Given the description of an element on the screen output the (x, y) to click on. 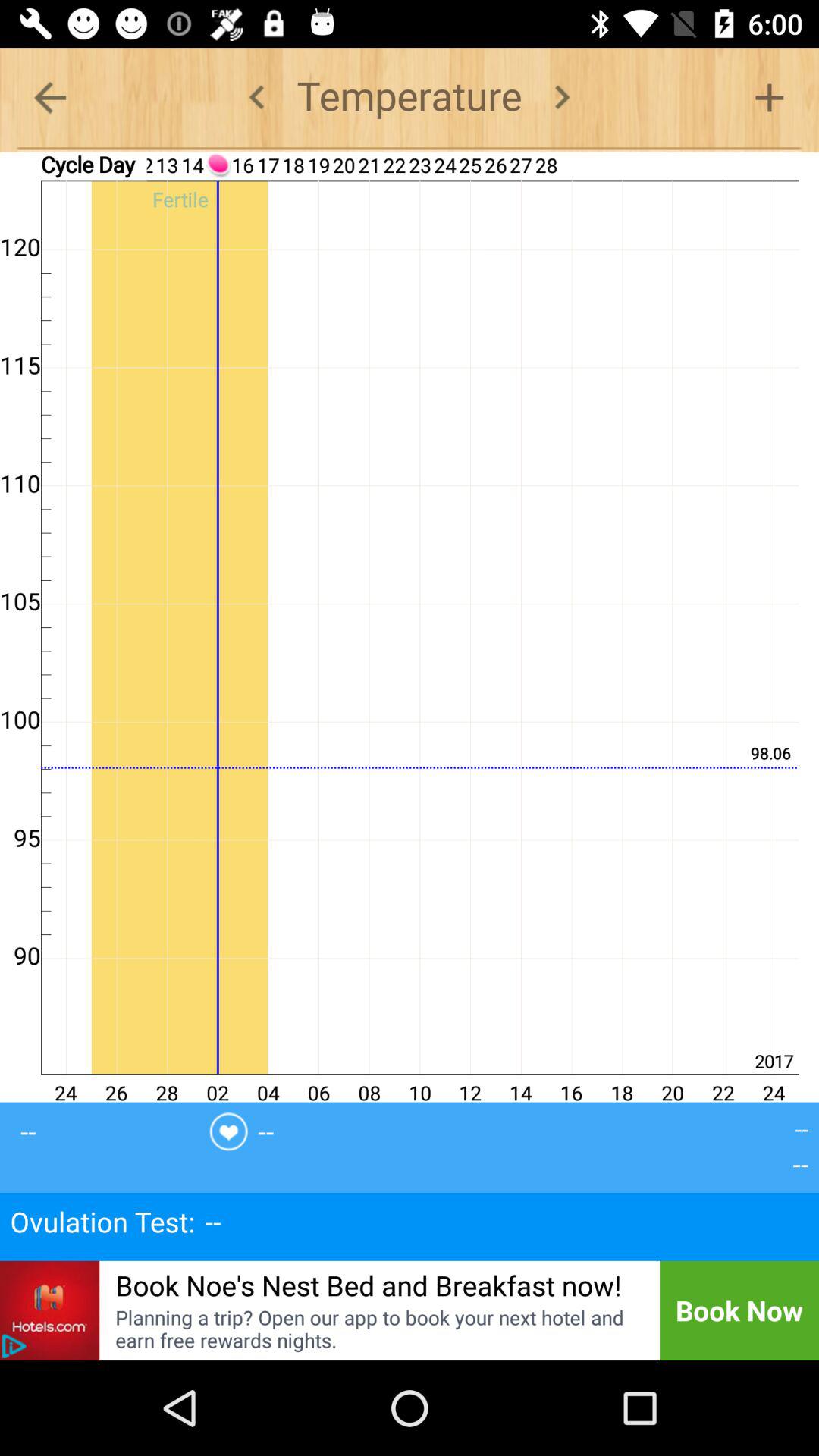
go to previous title (256, 97)
